Given the description of an element on the screen output the (x, y) to click on. 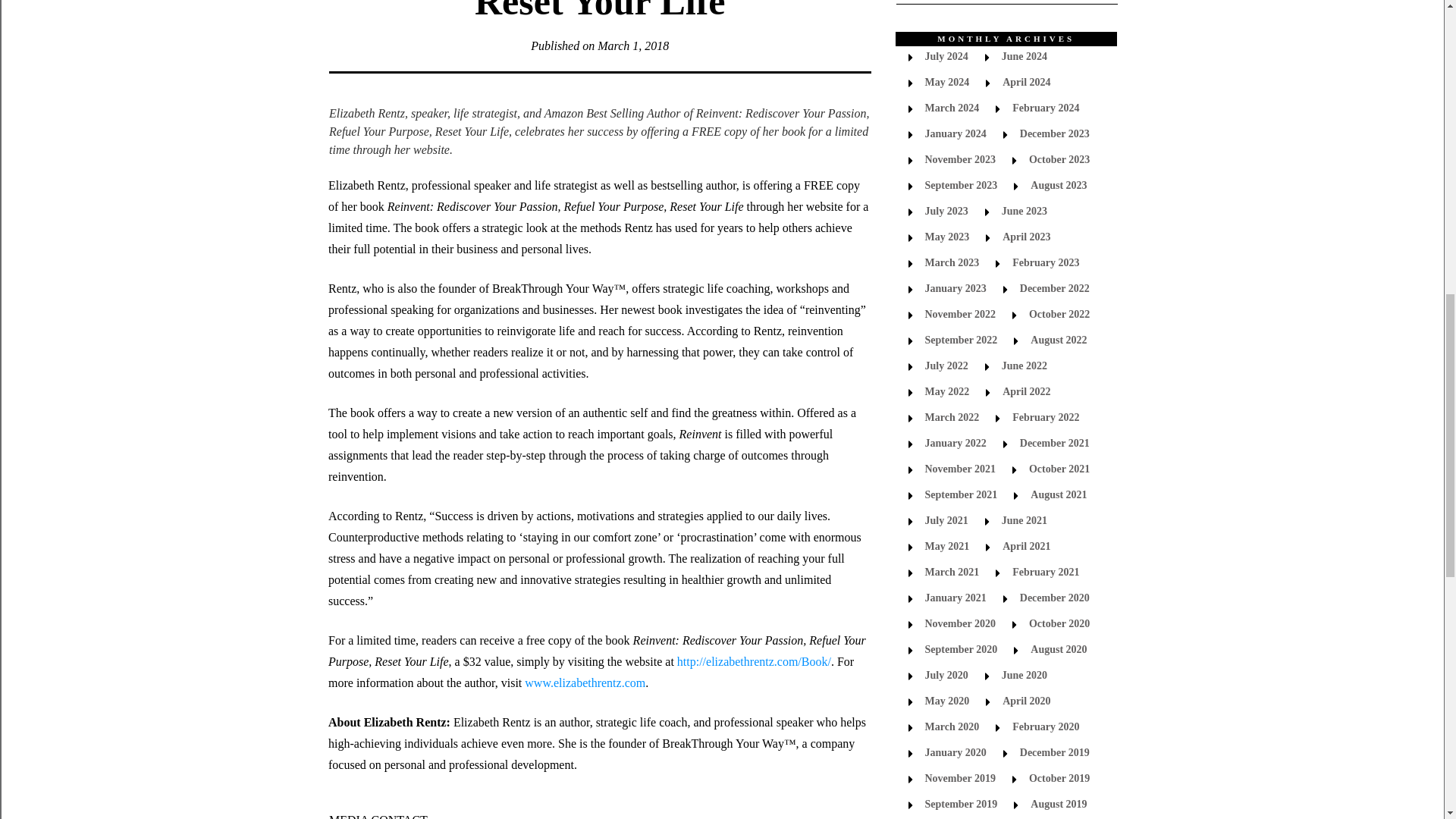
www.elizabethrentz.com (584, 682)
